Given the description of an element on the screen output the (x, y) to click on. 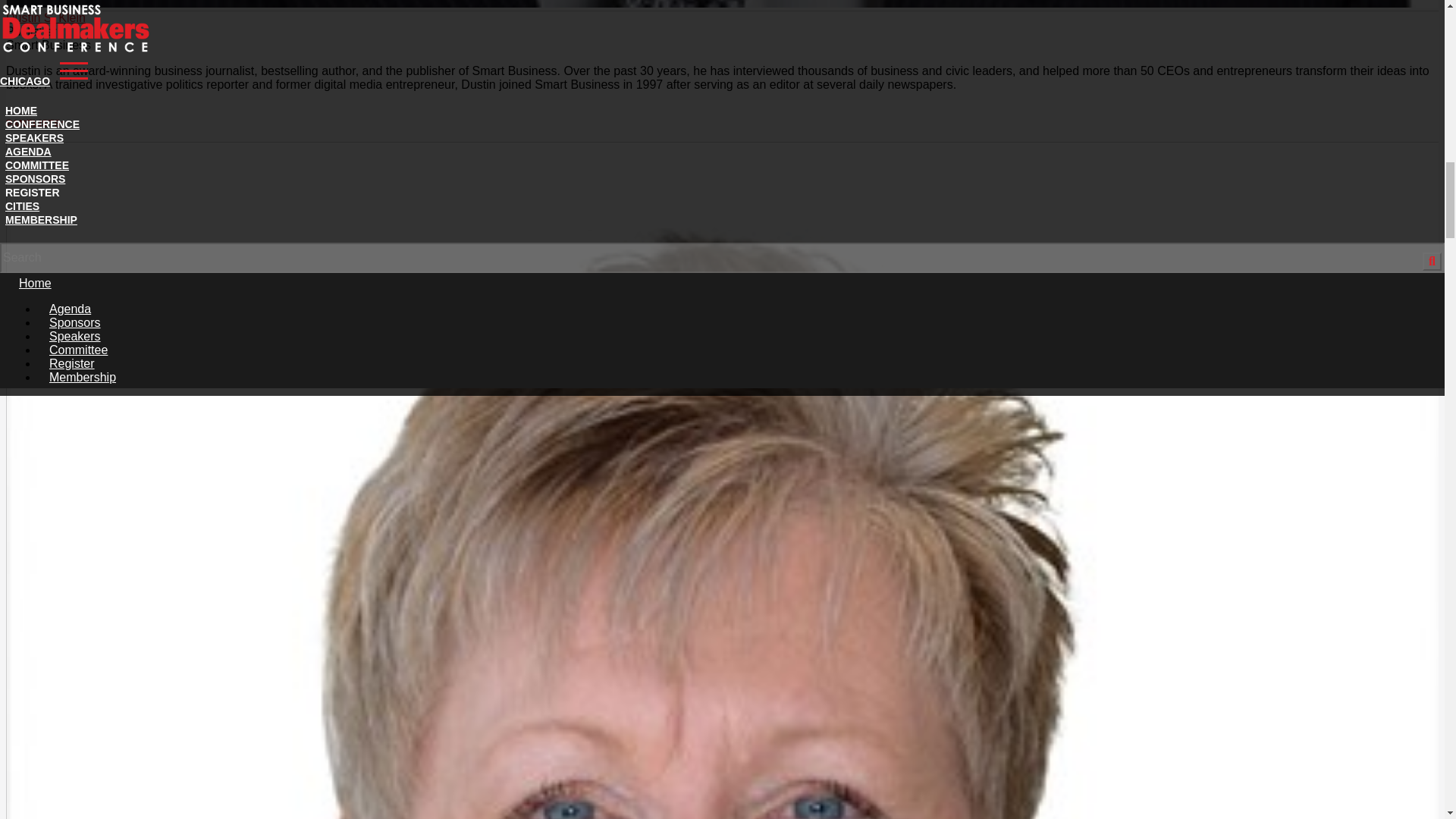
Dustin S. Klein (45, 17)
